Given the description of an element on the screen output the (x, y) to click on. 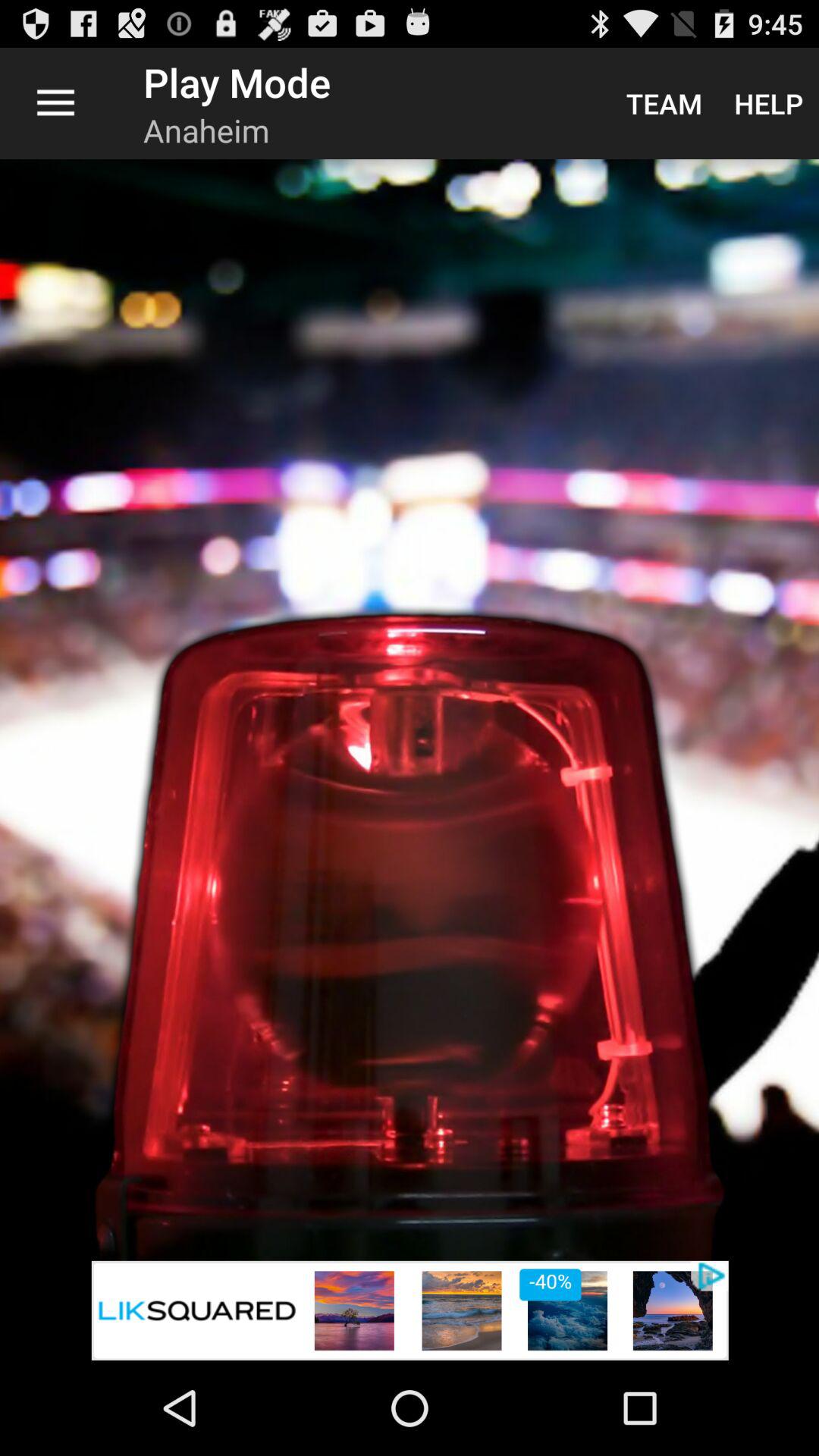
open icon at the bottom (409, 1310)
